Given the description of an element on the screen output the (x, y) to click on. 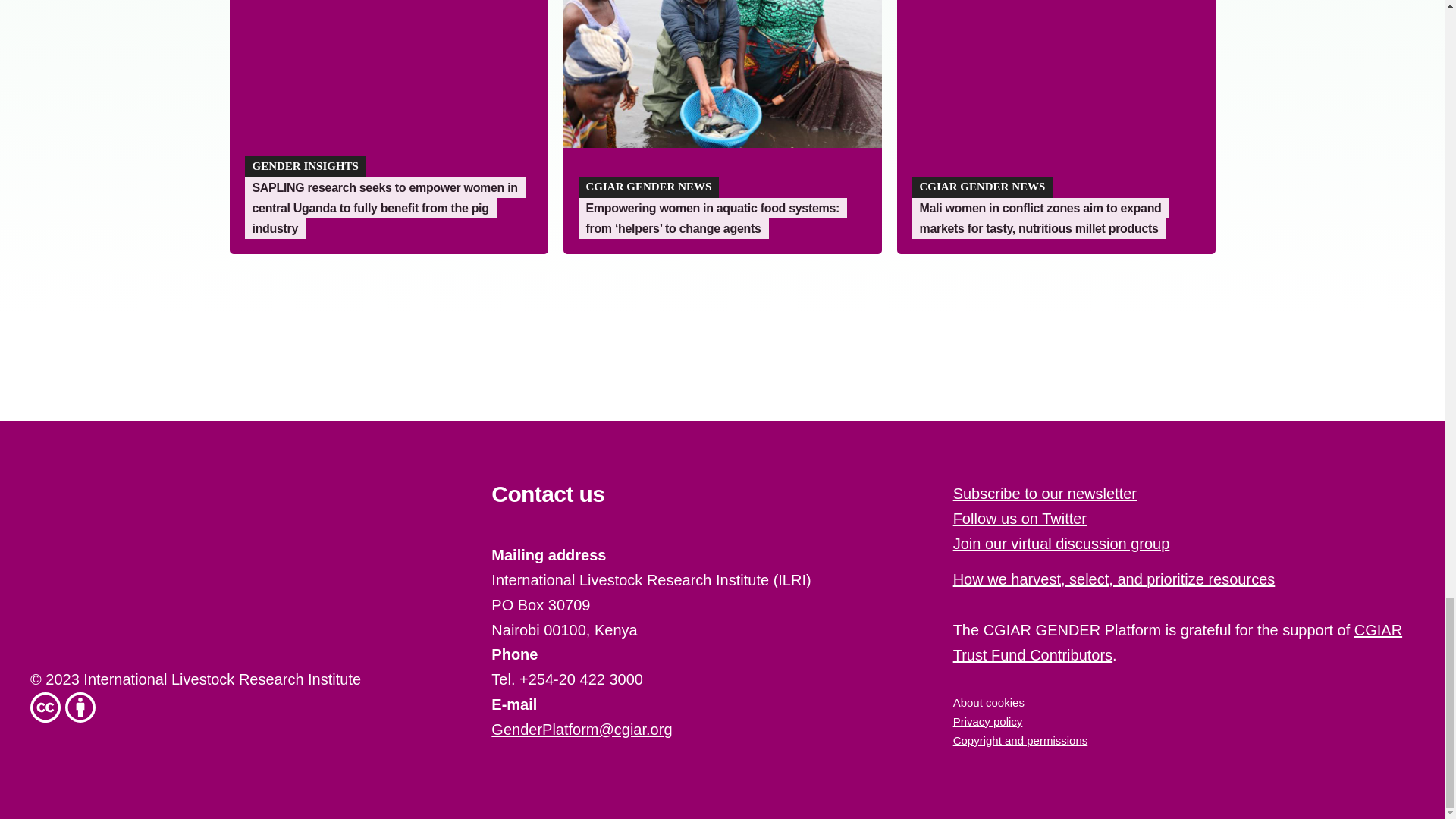
Copyright (1020, 739)
